Given the description of an element on the screen output the (x, y) to click on. 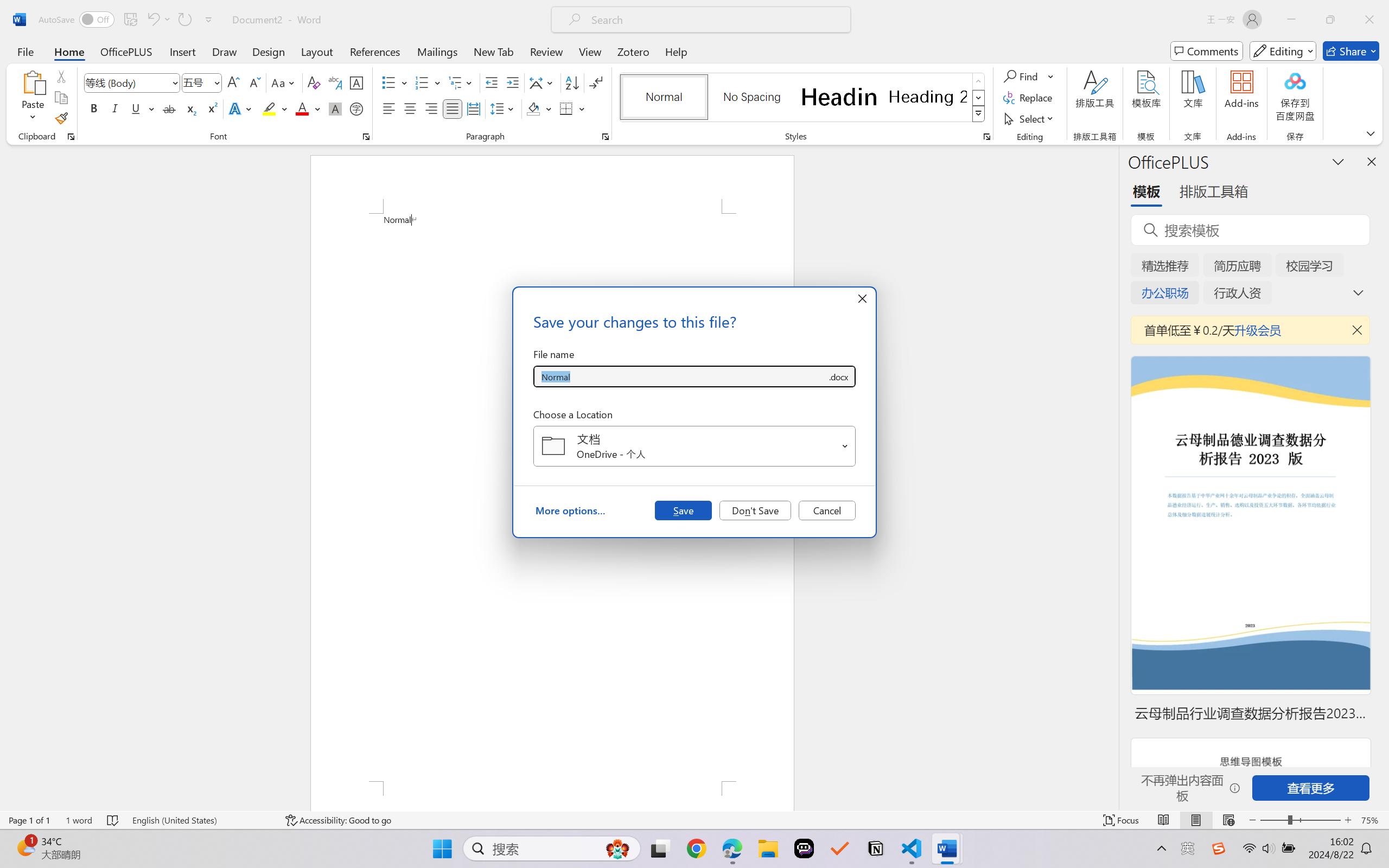
View (589, 51)
Text Highlight Color Yellow (269, 108)
Copy (60, 97)
Shrink Font (253, 82)
Align Left (388, 108)
Mailings (437, 51)
Zotero (632, 51)
Home (69, 51)
Print Layout (1196, 819)
Asian Layout (542, 82)
Accessibility Checker Accessibility: Good to go (338, 819)
